Given the description of an element on the screen output the (x, y) to click on. 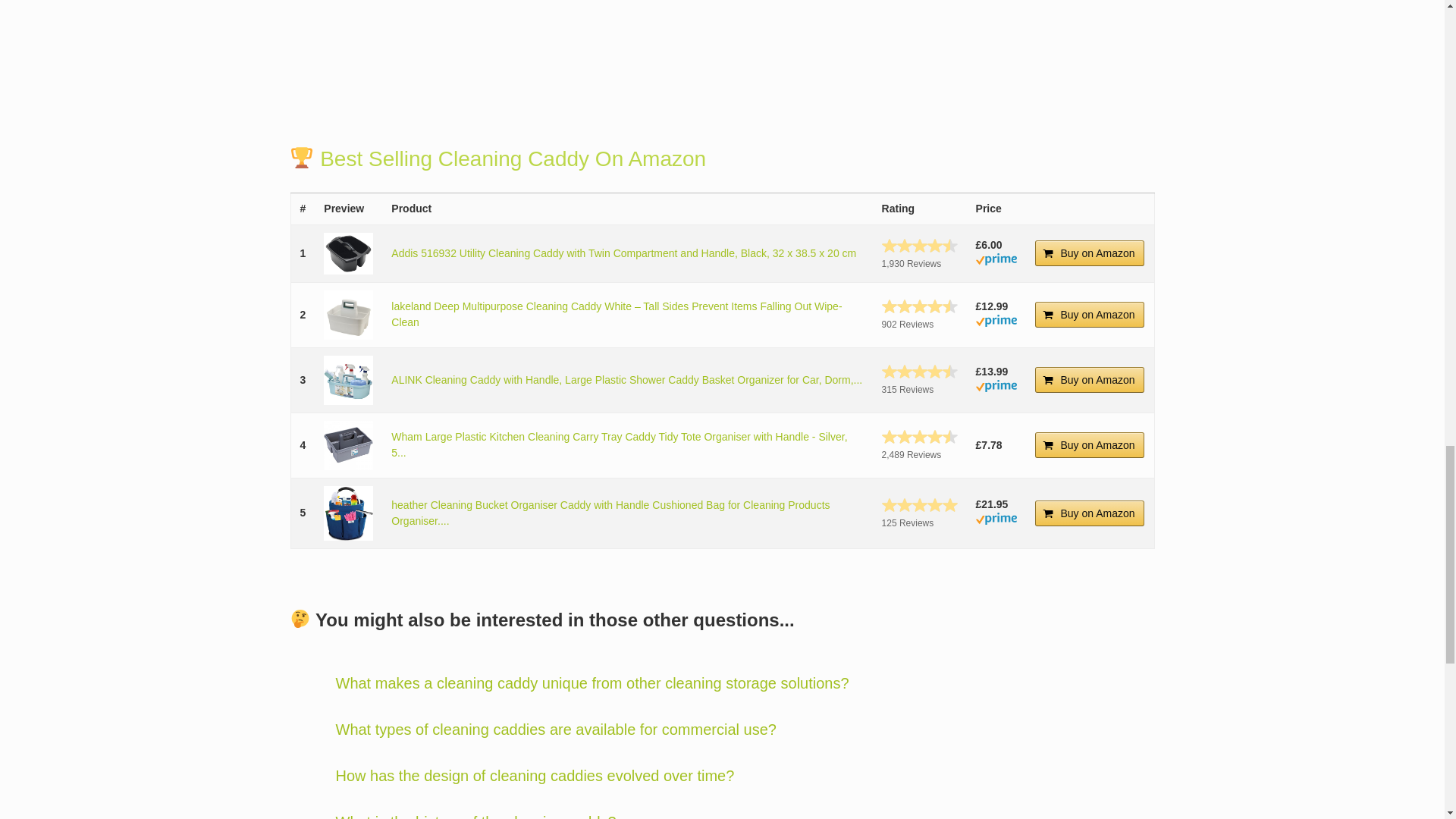
Buy on Amazon (1089, 253)
Buy on Amazon (1089, 314)
Reviews on Amazon (920, 245)
Reviews on Amazon (920, 305)
Amazon Prime (996, 387)
Amazon Prime (996, 322)
Amazon Prime (996, 261)
YouTube video player (591, 40)
Reviews on Amazon (920, 371)
